Given the description of an element on the screen output the (x, y) to click on. 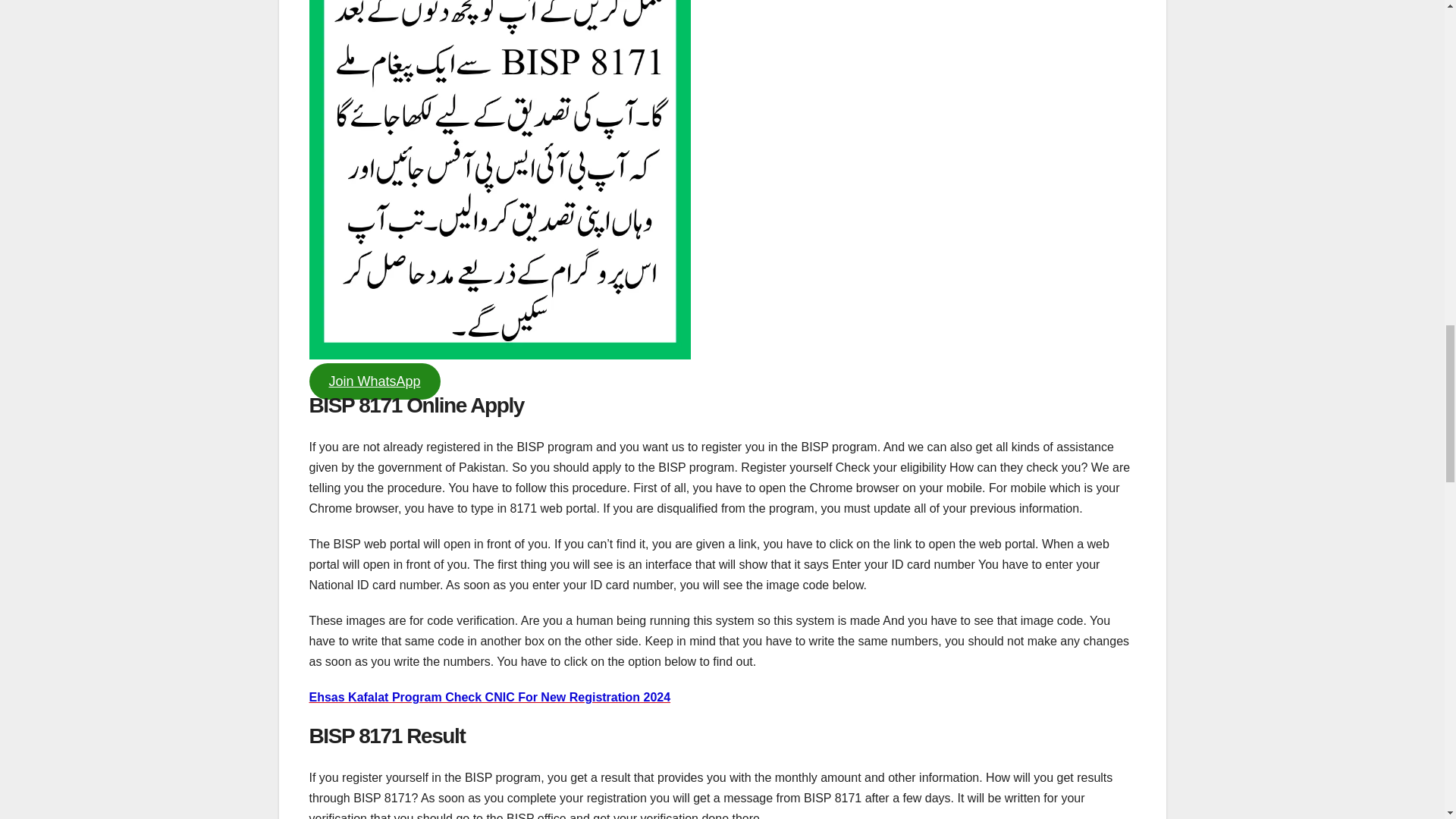
Ehsas Kafalat Program Check CNIC For New Registration 2024 (489, 697)
Join WhatsApp (374, 381)
